Given the description of an element on the screen output the (x, y) to click on. 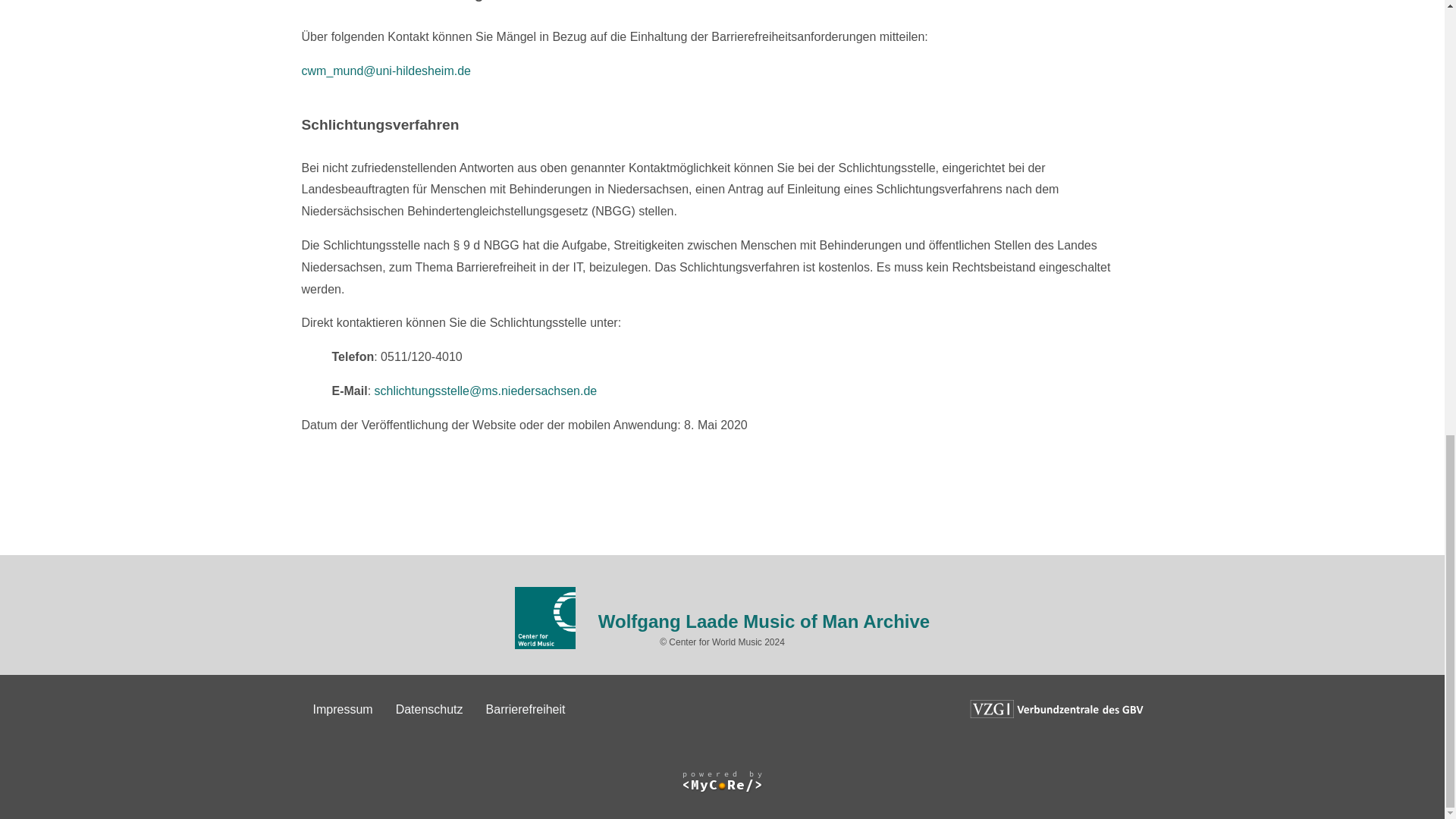
Barrierefreiheit (526, 708)
Impressum (342, 708)
MyCoRe 2020.06.3-SNAPSHOT 2020.06.x:v2020.06.2-47-ga714870 (721, 781)
Datenschutz (429, 708)
